Given the description of an element on the screen output the (x, y) to click on. 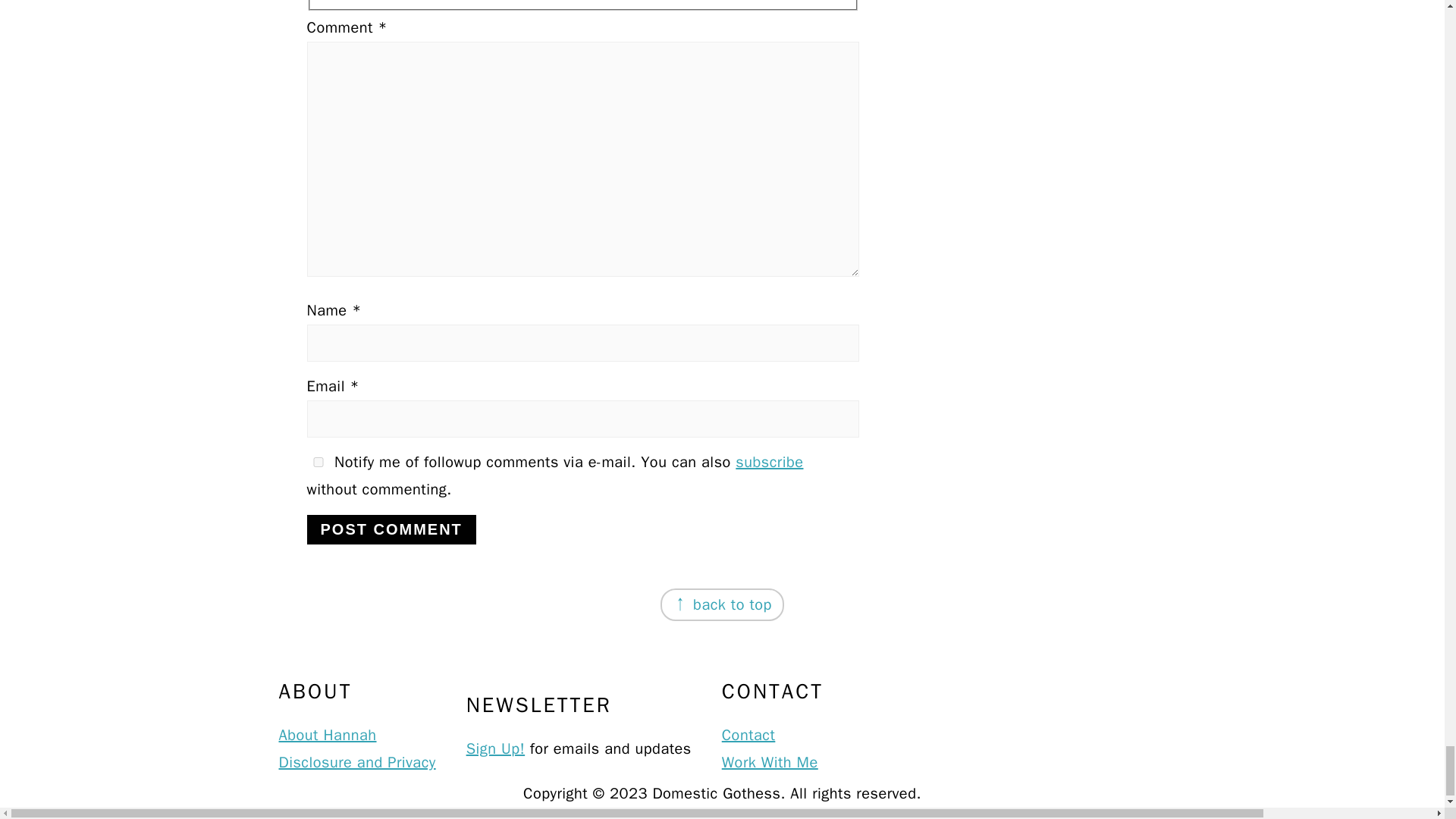
replies (317, 461)
Post Comment (390, 529)
